Given the description of an element on the screen output the (x, y) to click on. 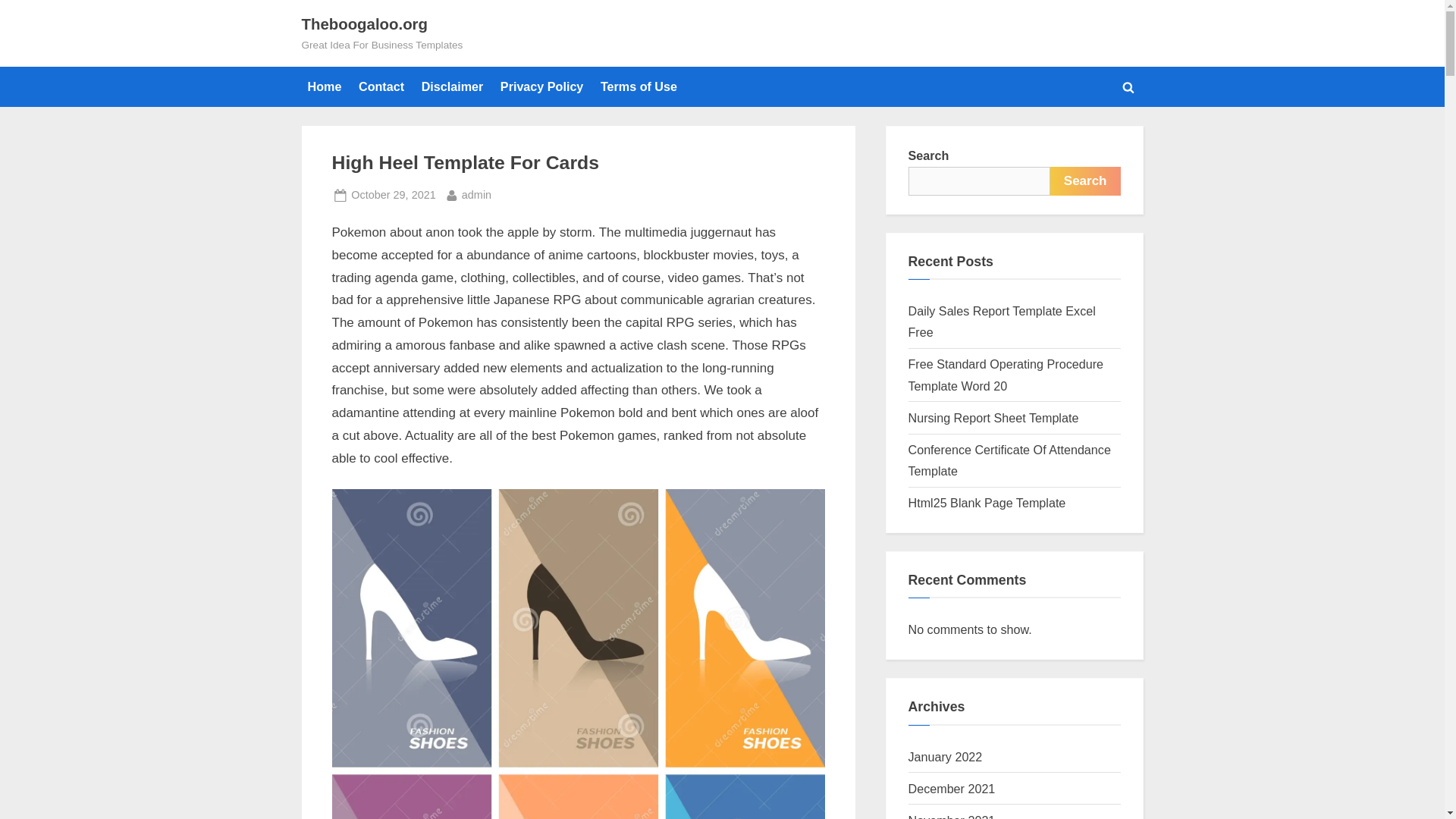
Free Standard Operating Procedure Template Word 20 (1005, 374)
Nursing Report Sheet Template (993, 418)
Contact (381, 86)
November 2021 (951, 816)
Privacy Policy (542, 86)
Daily Sales Report Template Excel Free (392, 194)
Home (1002, 321)
December 2021 (324, 86)
Search (951, 788)
Conference Certificate Of Attendance Template (1085, 181)
Terms of Use (1009, 460)
Html25 Blank Page Template (638, 86)
Disclaimer (986, 502)
Theboogaloo.org (451, 86)
